Given the description of an element on the screen output the (x, y) to click on. 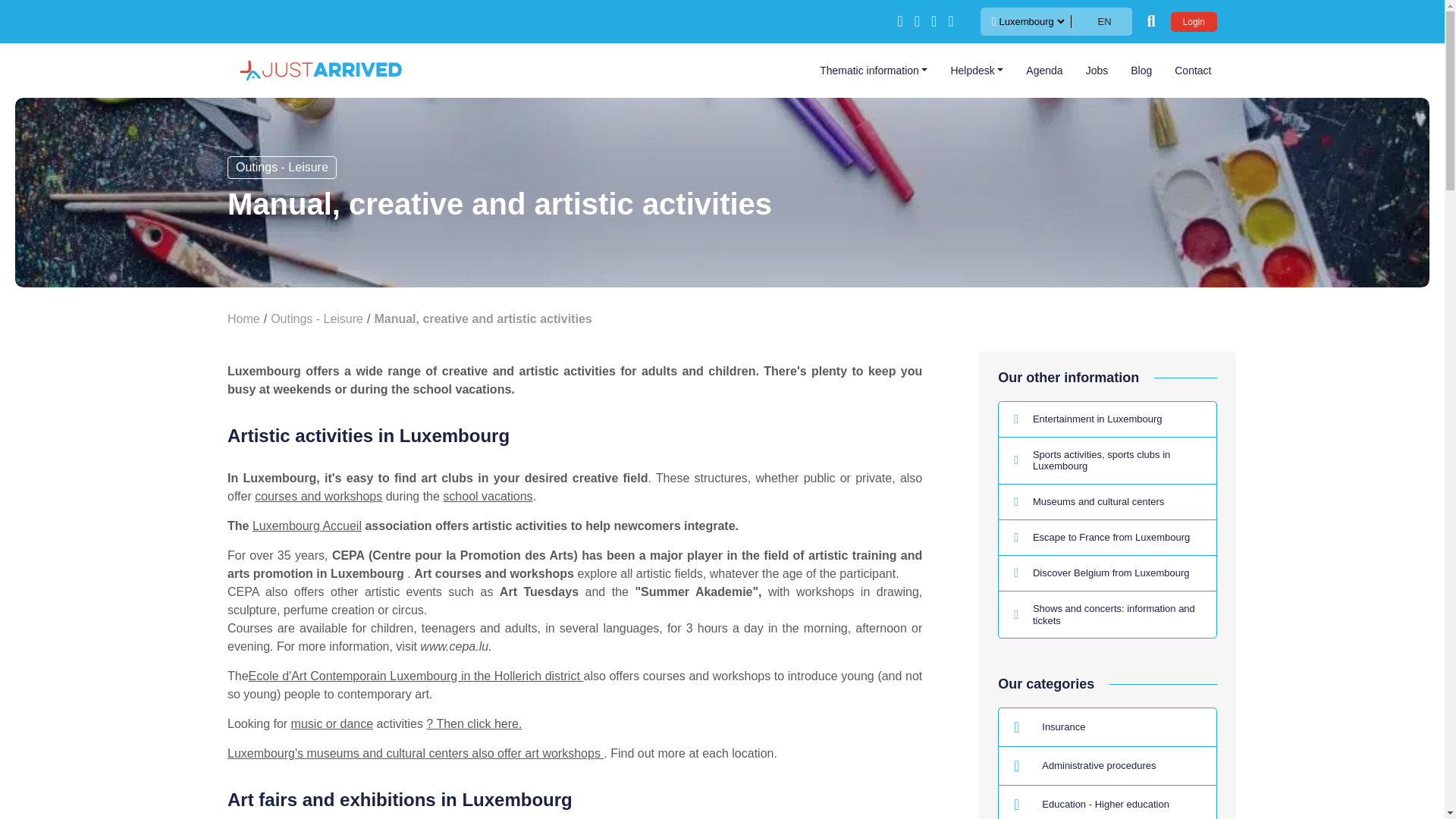
Login (1193, 21)
